Given the description of an element on the screen output the (x, y) to click on. 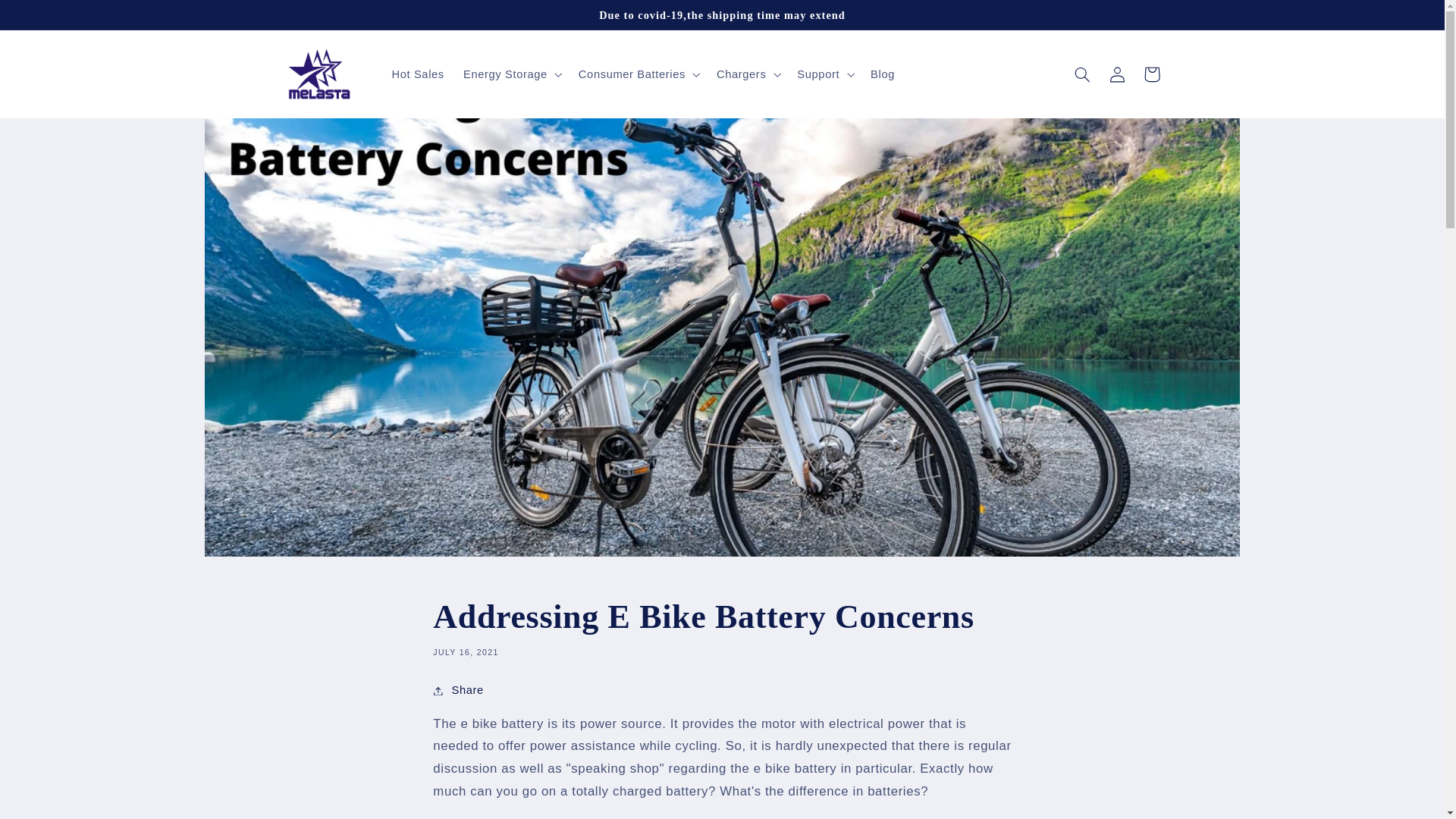
Skip to content (48, 18)
